Given the description of an element on the screen output the (x, y) to click on. 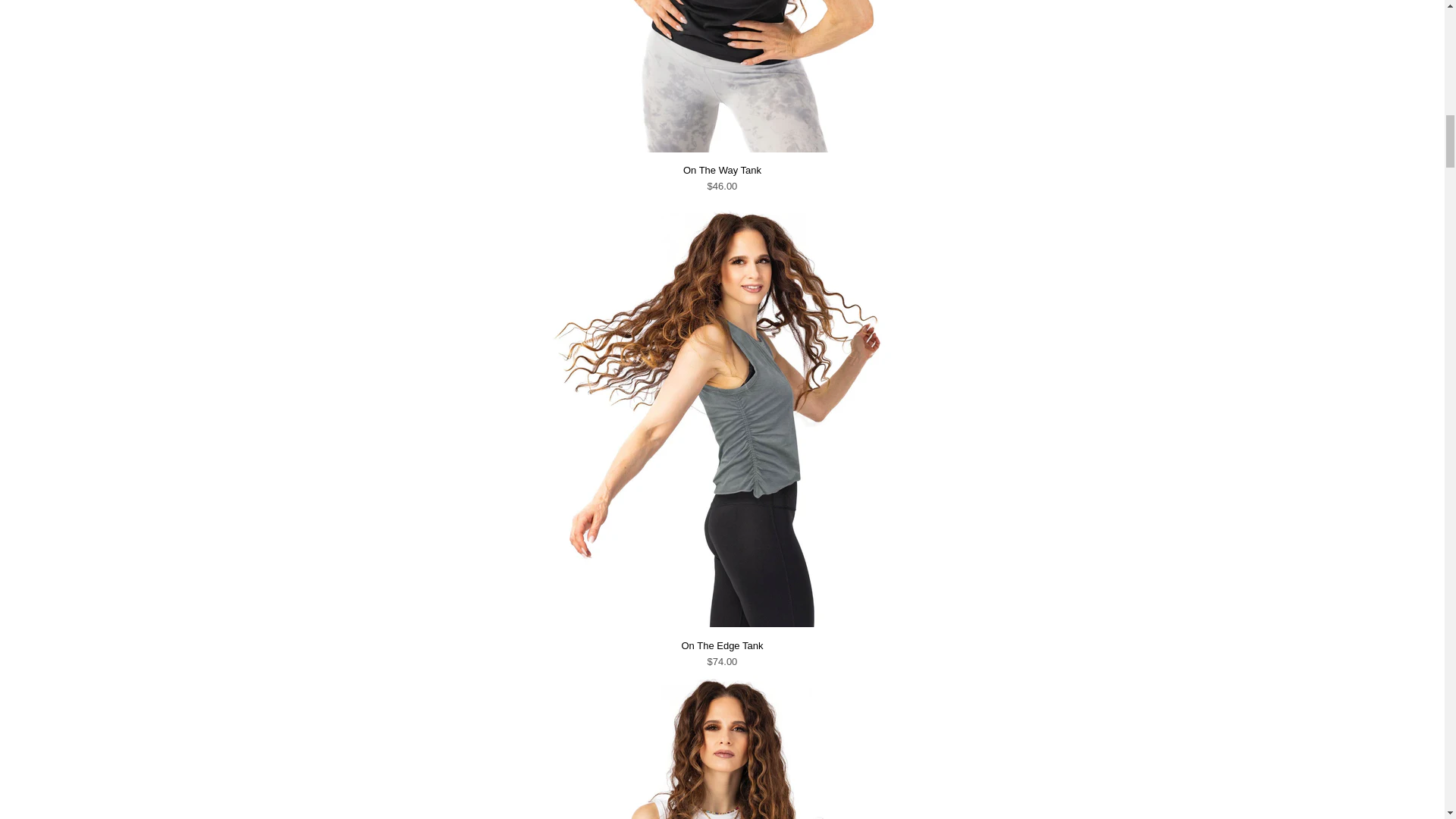
On The Way Tank (721, 148)
On The Edge Tank (721, 623)
